Given the description of an element on the screen output the (x, y) to click on. 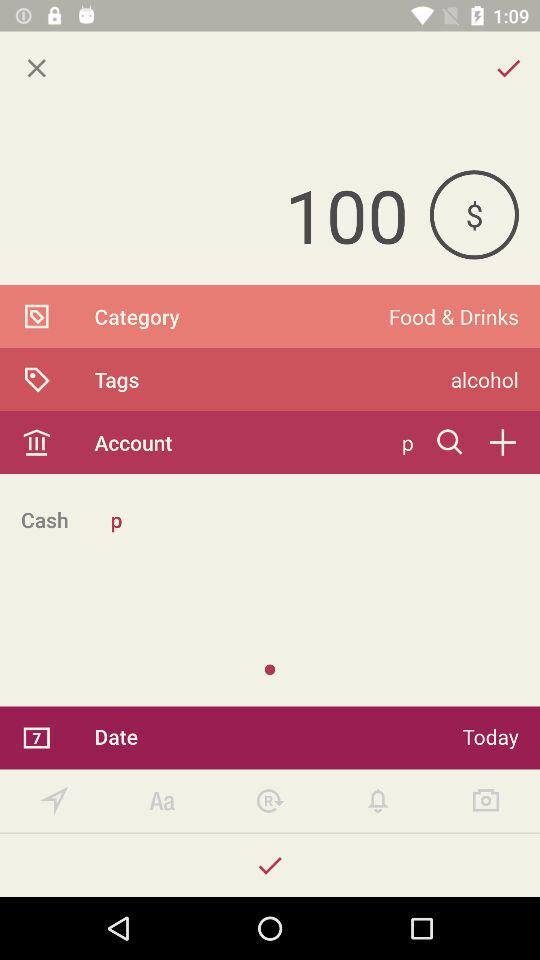
tap icon above the 100 item (36, 68)
